Given the description of an element on the screen output the (x, y) to click on. 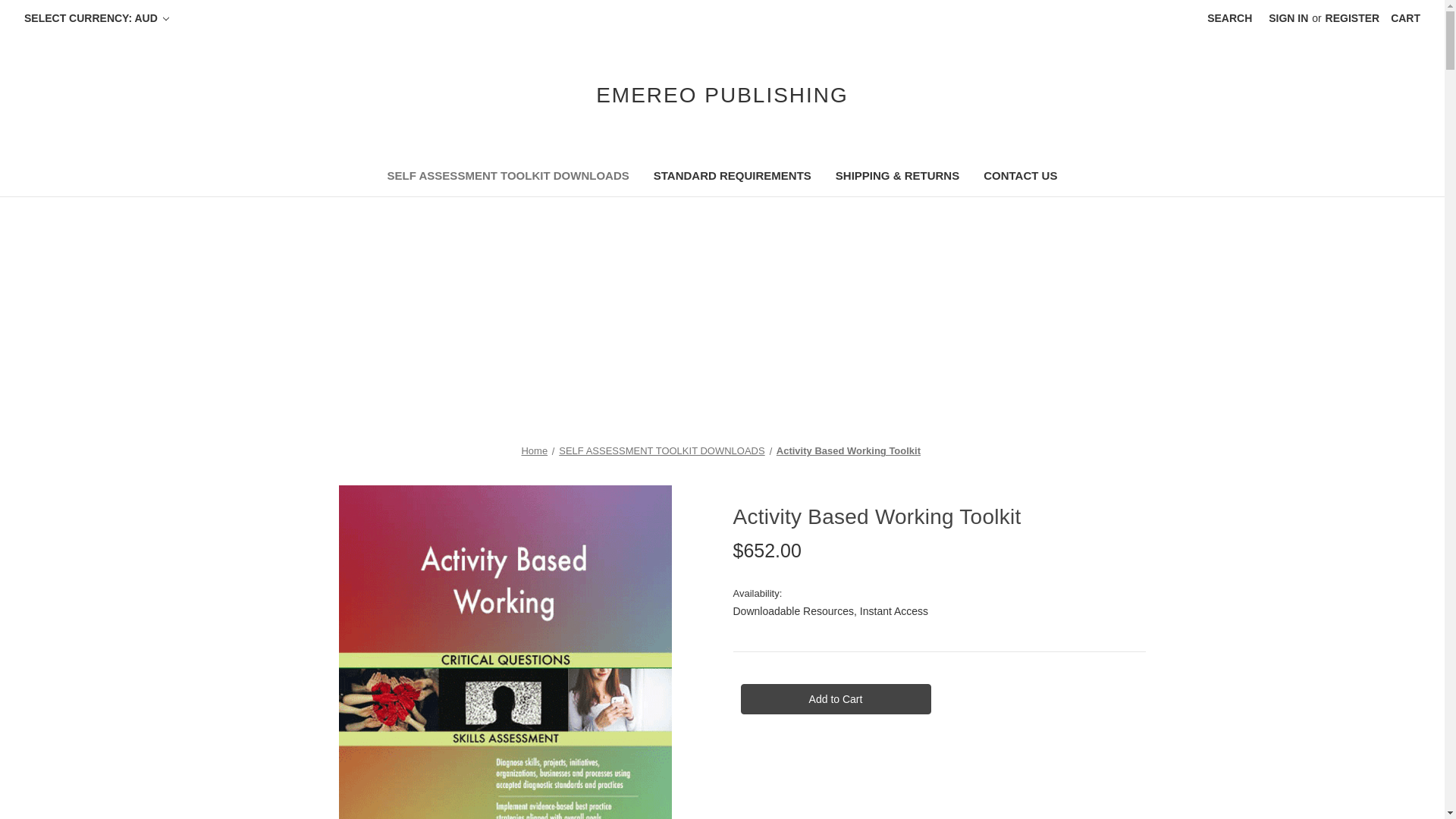
Home (534, 450)
REGISTER (1353, 18)
SELF ASSESSMENT TOOLKIT DOWNLOADS (508, 177)
EMEREO PUBLISHING (722, 95)
Add to Cart (834, 698)
CART (1404, 18)
STANDARD REQUIREMENTS (733, 177)
SELF ASSESSMENT TOOLKIT DOWNLOADS (661, 450)
SELECT CURRENCY: AUD (96, 18)
